Given the description of an element on the screen output the (x, y) to click on. 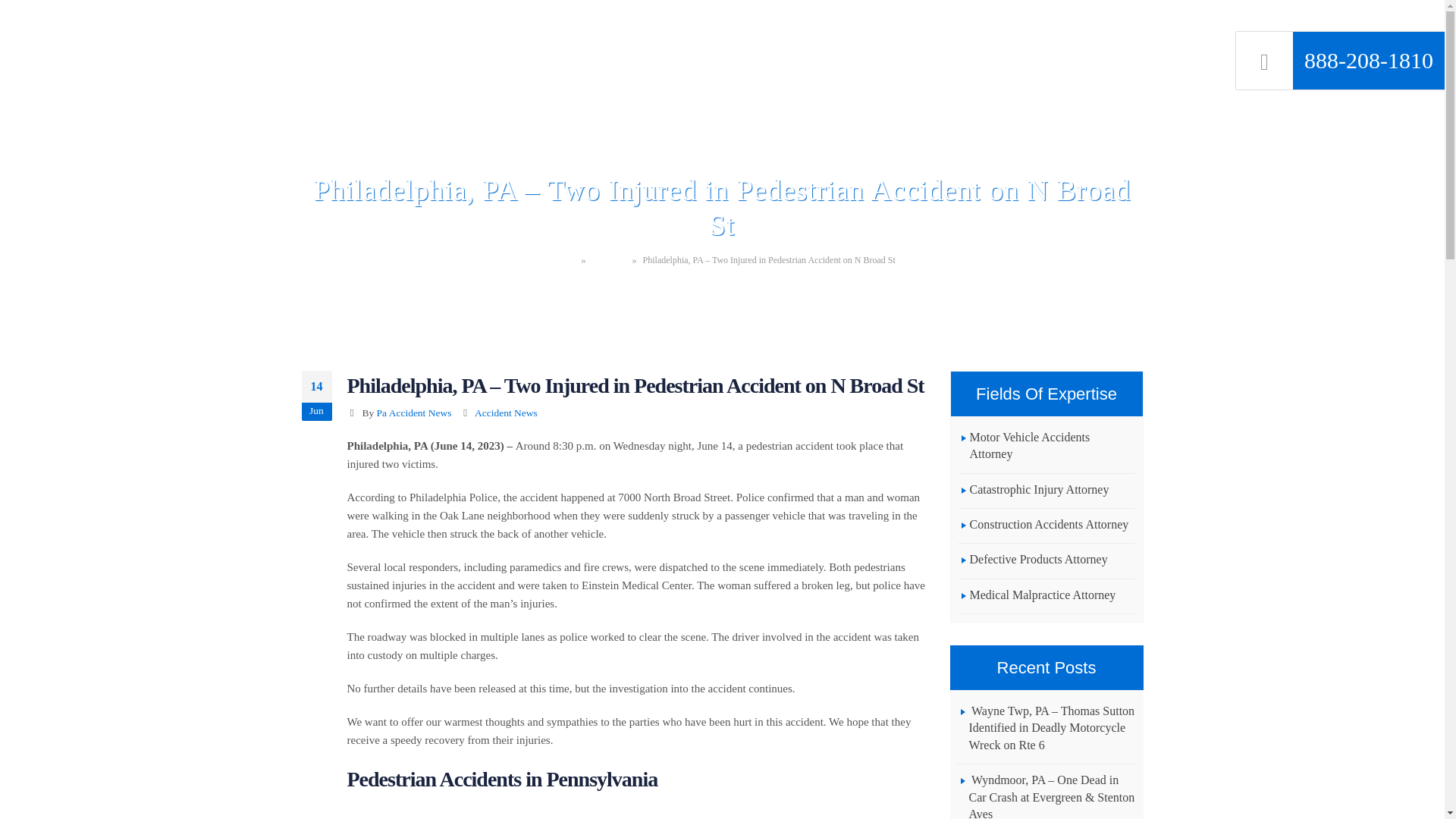
Our Blog (1029, 28)
Home (564, 259)
Posts by Pa Accident News (414, 412)
Attorney Profiles (646, 28)
FAQ (830, 28)
Our Blog (609, 259)
Contact Us (1109, 28)
Practice Areas (756, 28)
Home (561, 28)
